Given the description of an element on the screen output the (x, y) to click on. 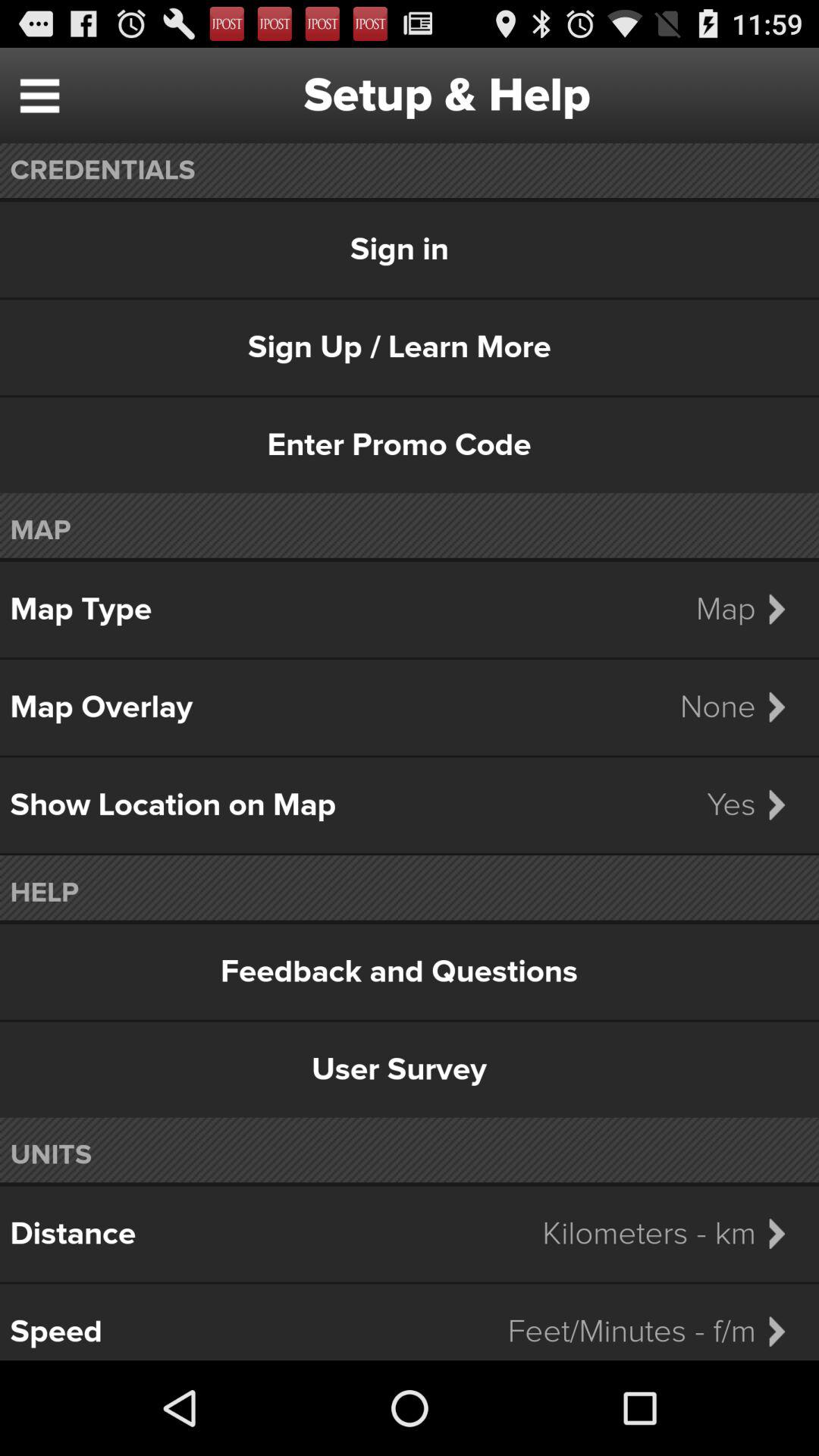
choose enter promo code icon (409, 445)
